Given the description of an element on the screen output the (x, y) to click on. 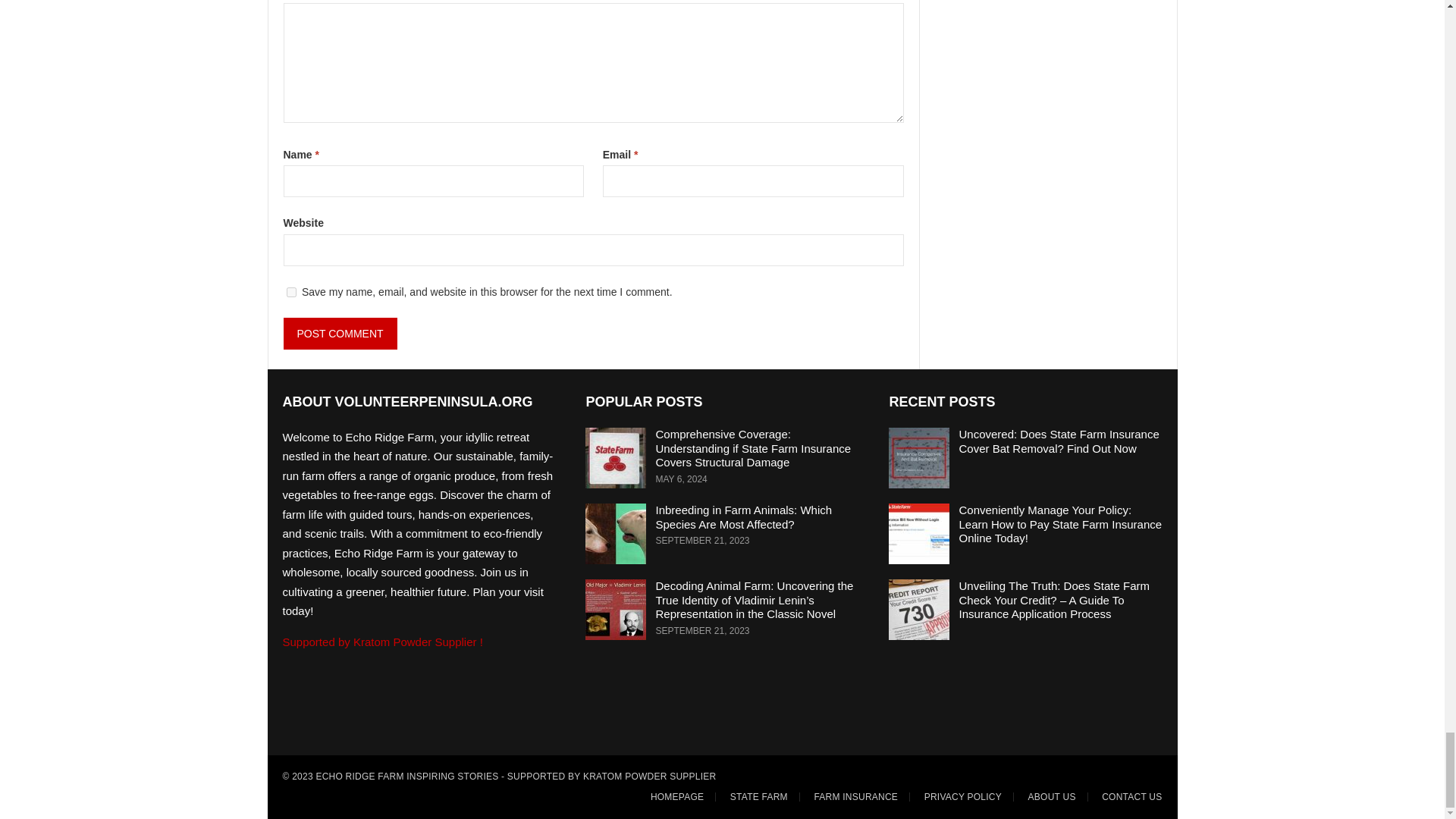
yes (291, 292)
Post Comment (340, 333)
